Given the description of an element on the screen output the (x, y) to click on. 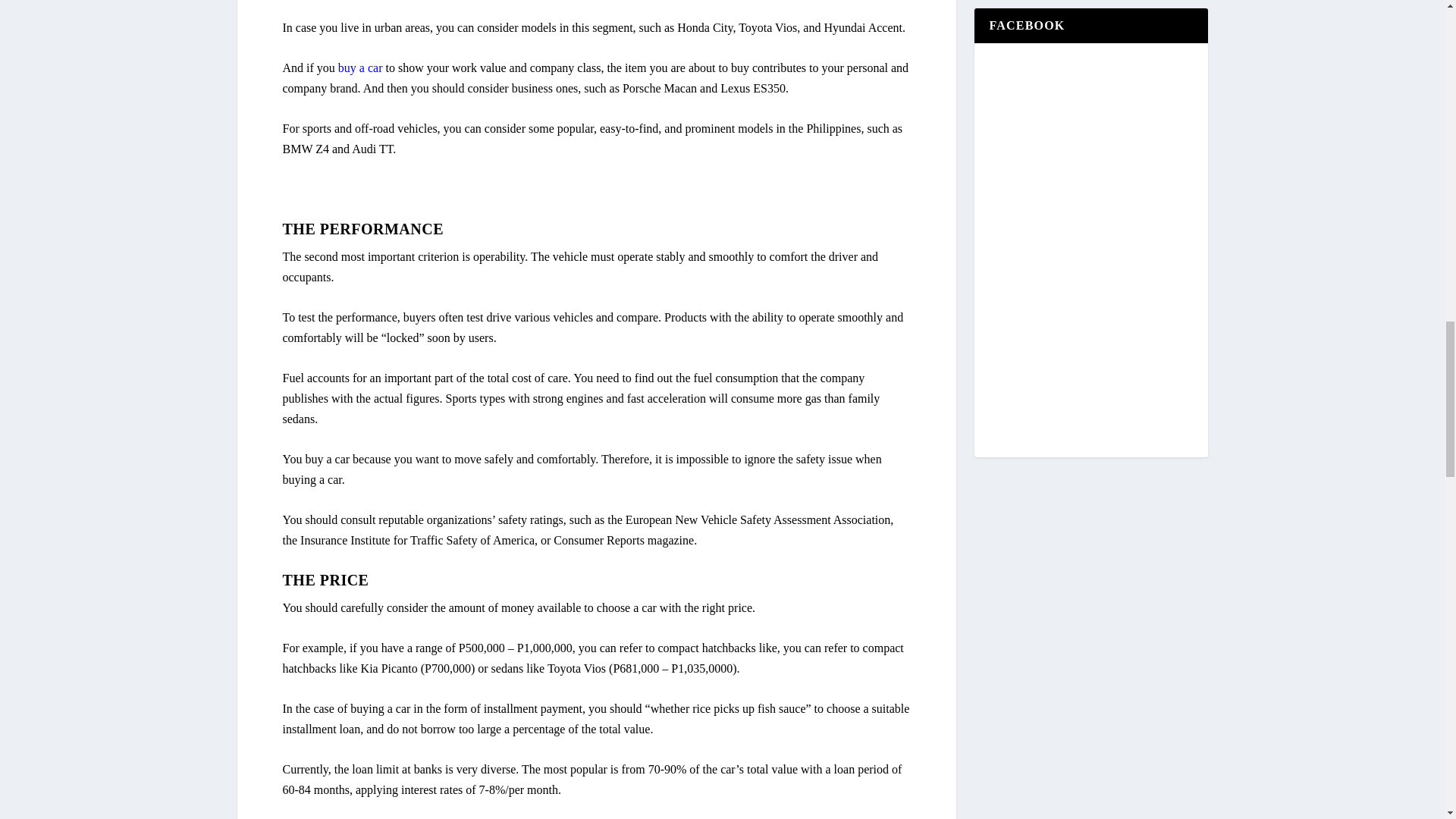
buy a car (359, 67)
buy and sell car for sale in Philippines (359, 67)
